Given the description of an element on the screen output the (x, y) to click on. 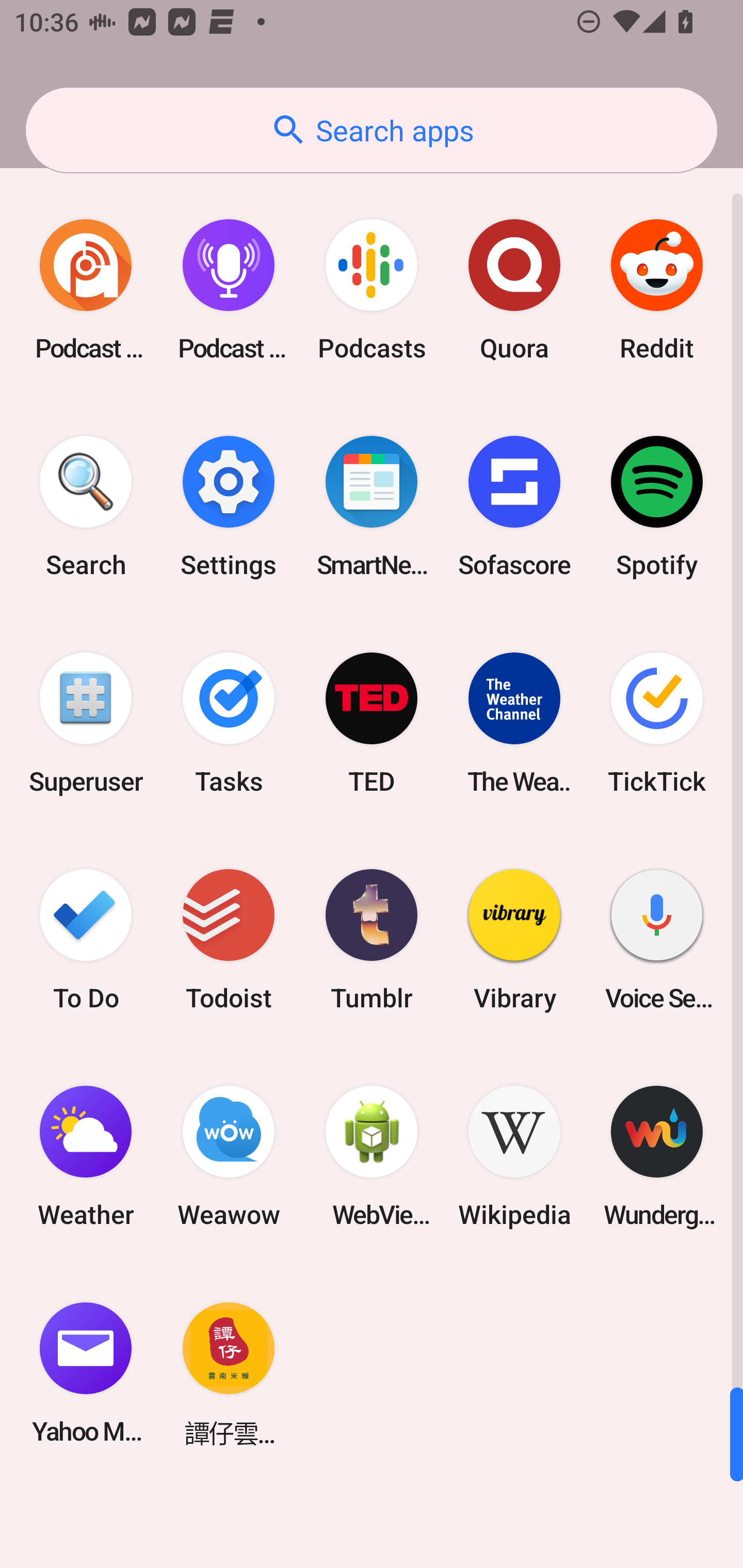
  Search apps (371, 130)
Podcast Addict (85, 289)
Podcast Player (228, 289)
Podcasts (371, 289)
Quora (514, 289)
Reddit (656, 289)
Search (85, 506)
Settings (228, 506)
SmartNews (371, 506)
Sofascore (514, 506)
Spotify (656, 506)
Superuser (85, 722)
Tasks (228, 722)
TED (371, 722)
The Weather Channel (514, 722)
TickTick (656, 722)
To Do (85, 939)
Todoist (228, 939)
Tumblr (371, 939)
Vibrary (514, 939)
Voice Search (656, 939)
Weather (85, 1156)
Weawow (228, 1156)
WebView Browser Tester (371, 1156)
Wikipedia (514, 1156)
Wunderground (656, 1156)
Yahoo Mail (85, 1373)
譚仔雲南米線 (228, 1373)
